Given the description of an element on the screen output the (x, y) to click on. 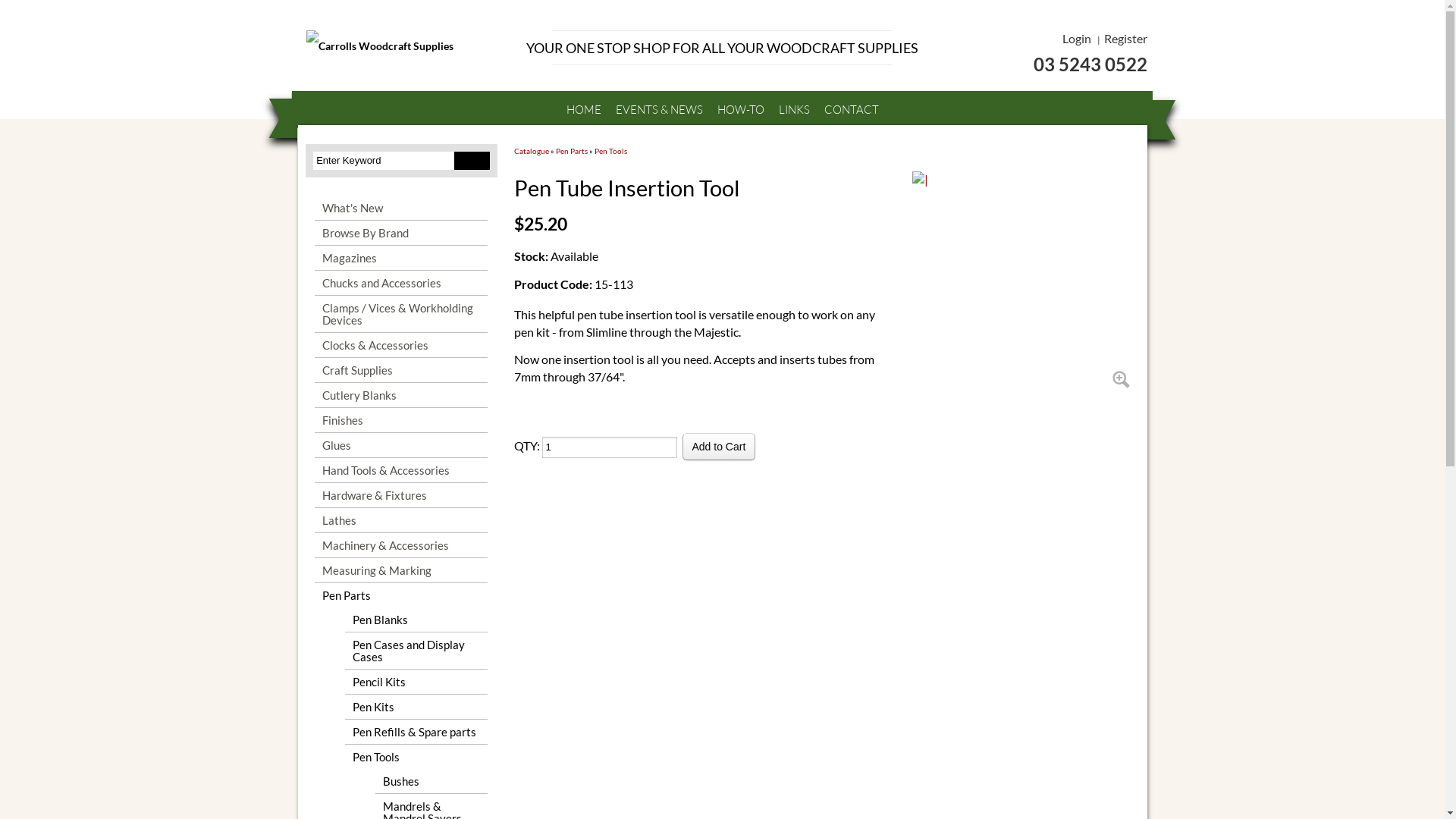
Bushes Element type: text (431, 780)
What's New Element type: text (400, 207)
Add to Cart Element type: text (719, 446)
Catalogue Element type: text (531, 150)
Pen Parts Element type: text (400, 595)
EVENTS & NEWS Element type: text (659, 109)
Finishes Element type: text (400, 419)
Pen Refills & Spare parts Element type: text (416, 731)
Hardware & Fixtures Element type: text (400, 495)
Pen Parts Element type: text (570, 150)
Machinery & Accessories Element type: text (400, 545)
Cutlery Blanks Element type: text (400, 394)
Hand Tools & Accessories Element type: text (400, 470)
Magazines Element type: text (400, 257)
Glues Element type: text (400, 445)
Chucks and Accessories Element type: text (400, 282)
Measuring & Marking Element type: text (400, 570)
Lathes Element type: text (400, 520)
Carrolls Woodcraft Supplies Element type: hover (403, 46)
Pen Blanks Element type: text (416, 619)
Pen Cases and Display Cases Element type: text (416, 650)
HOME Element type: text (582, 109)
Browse By Brand Element type: text (400, 232)
Login Element type: text (1075, 38)
CONTACT Element type: text (850, 109)
Clamps / Vices & Workholding Devices Element type: text (400, 313)
Pen Tools Element type: text (416, 756)
Register Element type: text (1125, 38)
Pencil Kits Element type: text (416, 681)
LINKS Element type: text (793, 109)
03 5243 0522 Element type: text (1040, 64)
Pen Tools Element type: text (610, 150)
HOW-TO Element type: text (740, 109)
Craft Supplies Element type: text (400, 369)
Clocks & Accessories Element type: text (400, 344)
Pen Kits Element type: text (416, 706)
